Given the description of an element on the screen output the (x, y) to click on. 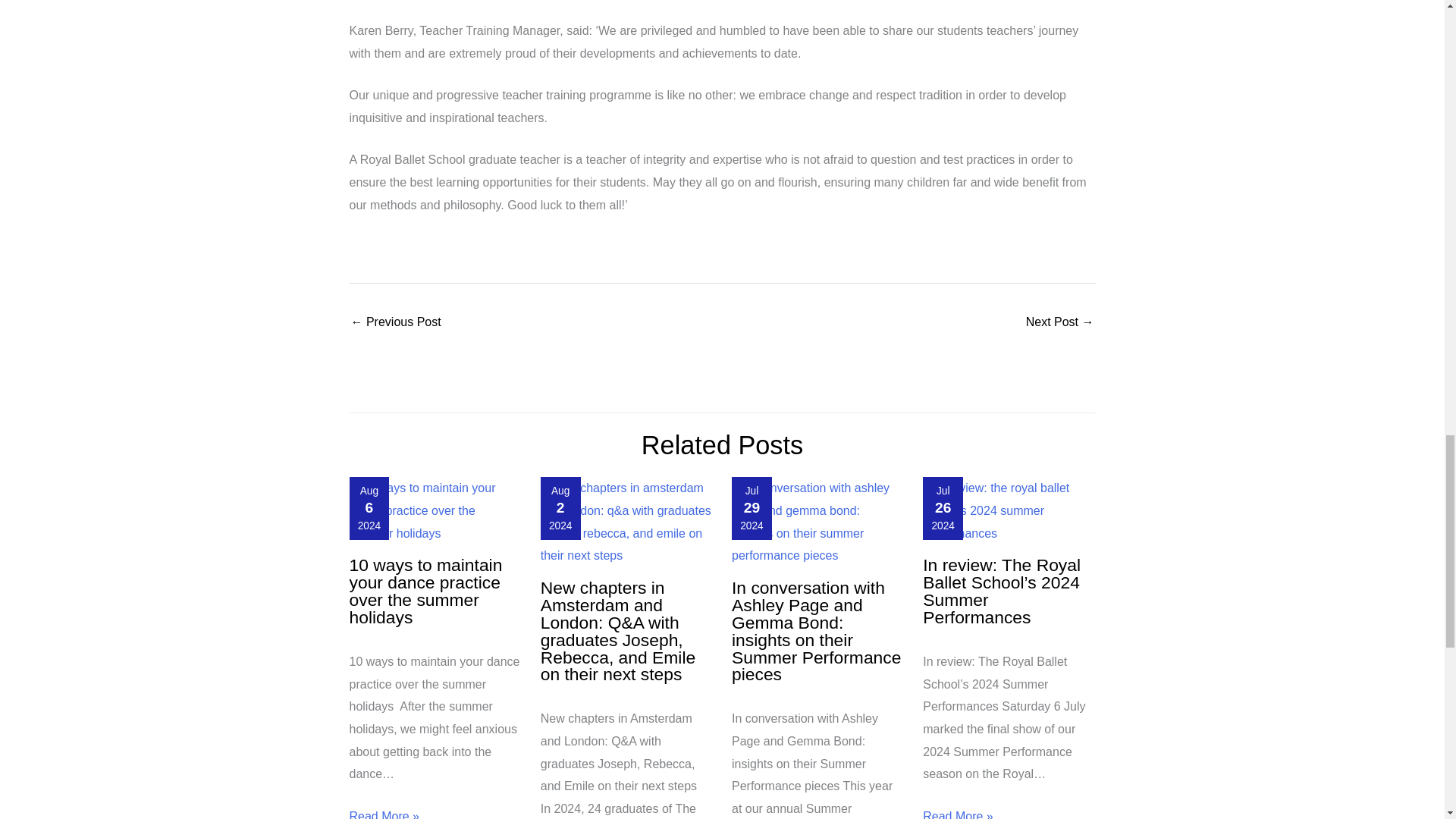
World premiere of new dance work by Didy Veldman (395, 323)
Online Summer Intensive 2020: your response (1060, 323)
